Given the description of an element on the screen output the (x, y) to click on. 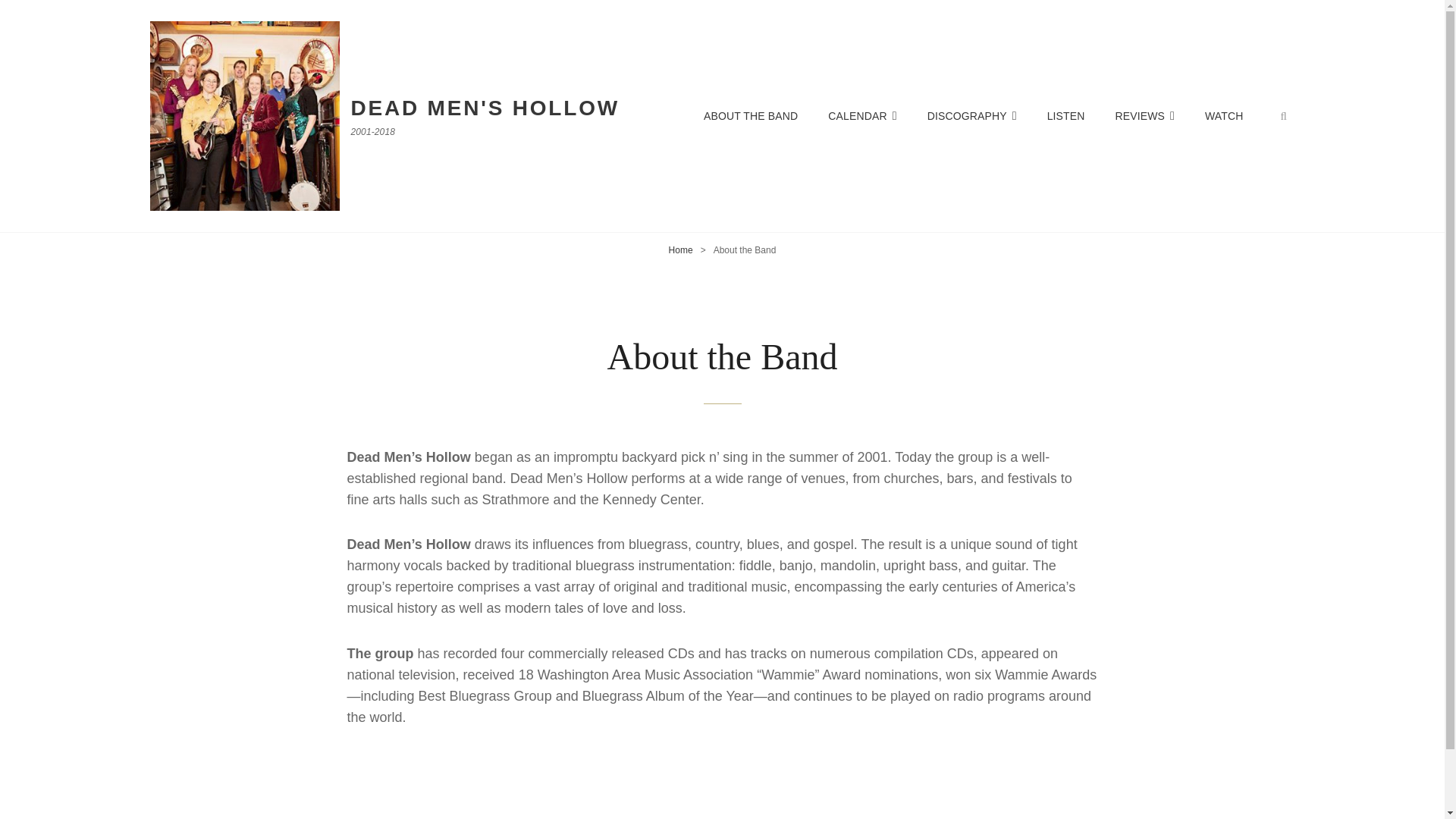
REVIEWS (1144, 116)
DISCOGRAPHY (972, 116)
WATCH (1223, 116)
ABOUT THE BAND (750, 116)
DEAD MEN'S HOLLOW (484, 107)
Home (680, 249)
SEARCH (1283, 115)
LISTEN (1066, 116)
CALENDAR (861, 116)
